Given the description of an element on the screen output the (x, y) to click on. 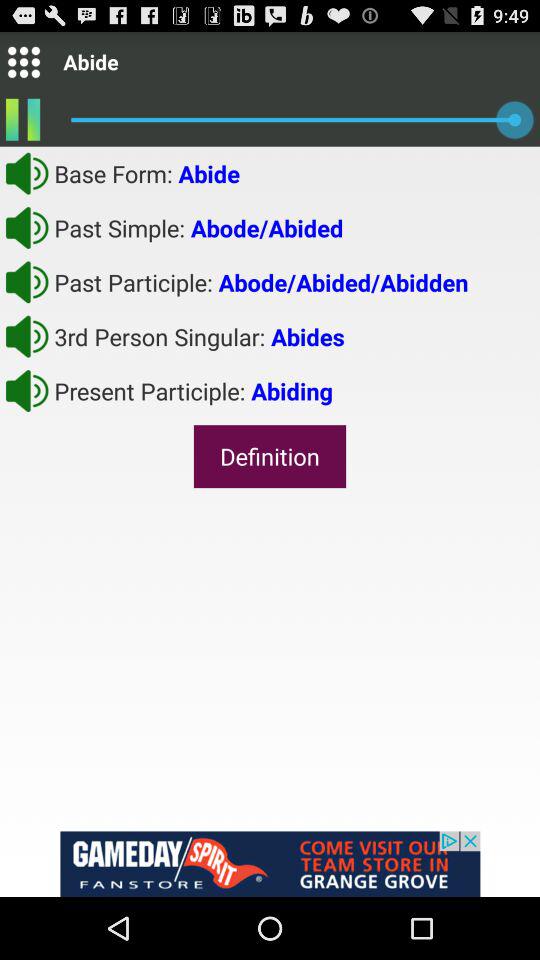
play audio (27, 282)
